Given the description of an element on the screen output the (x, y) to click on. 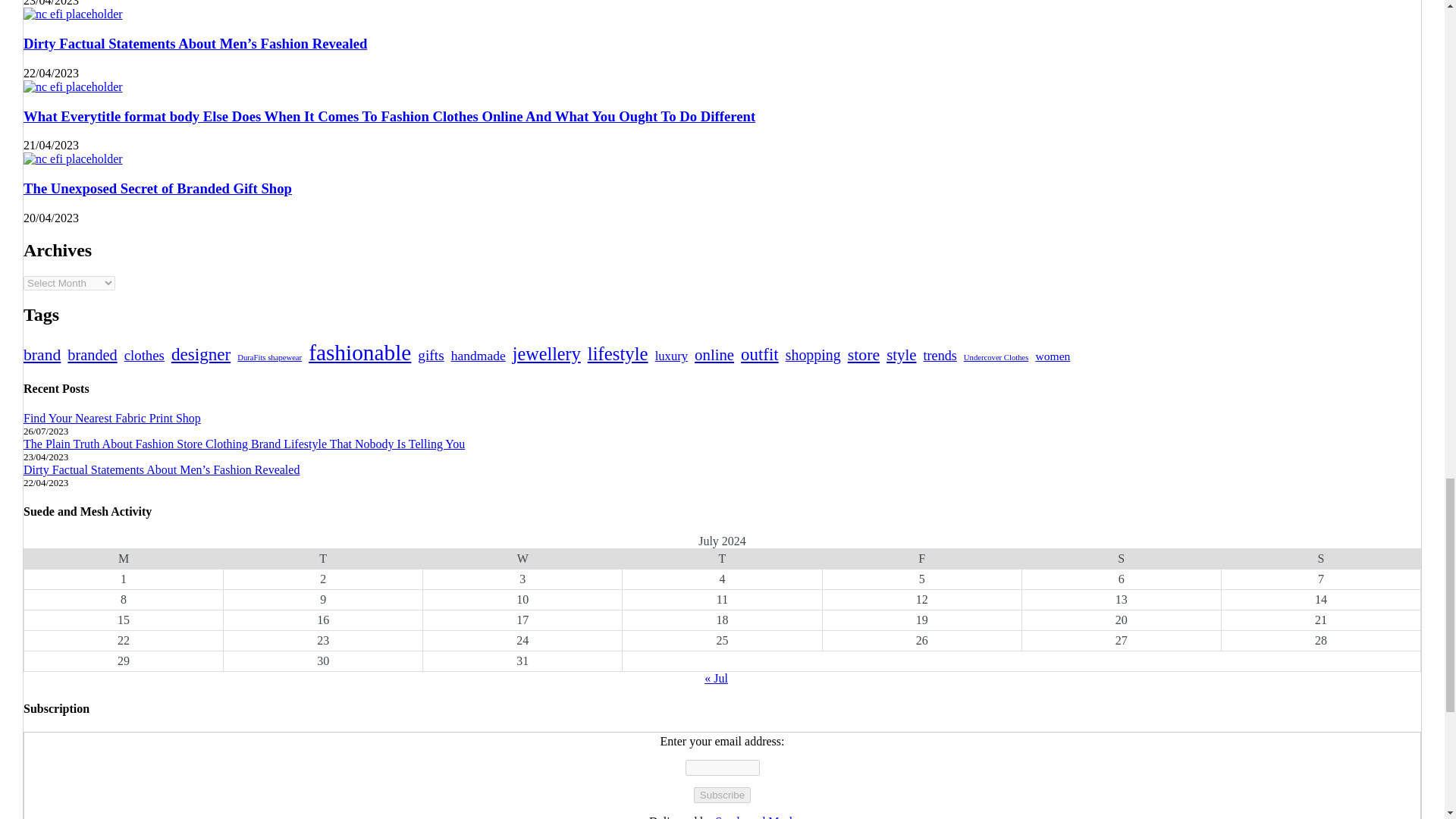
The Unexposed Secret of Branded Gift Shop (72, 159)
Dirty Factual Statements About Men's Fashion Revealed (72, 14)
Subscribe (722, 795)
